Given the description of an element on the screen output the (x, y) to click on. 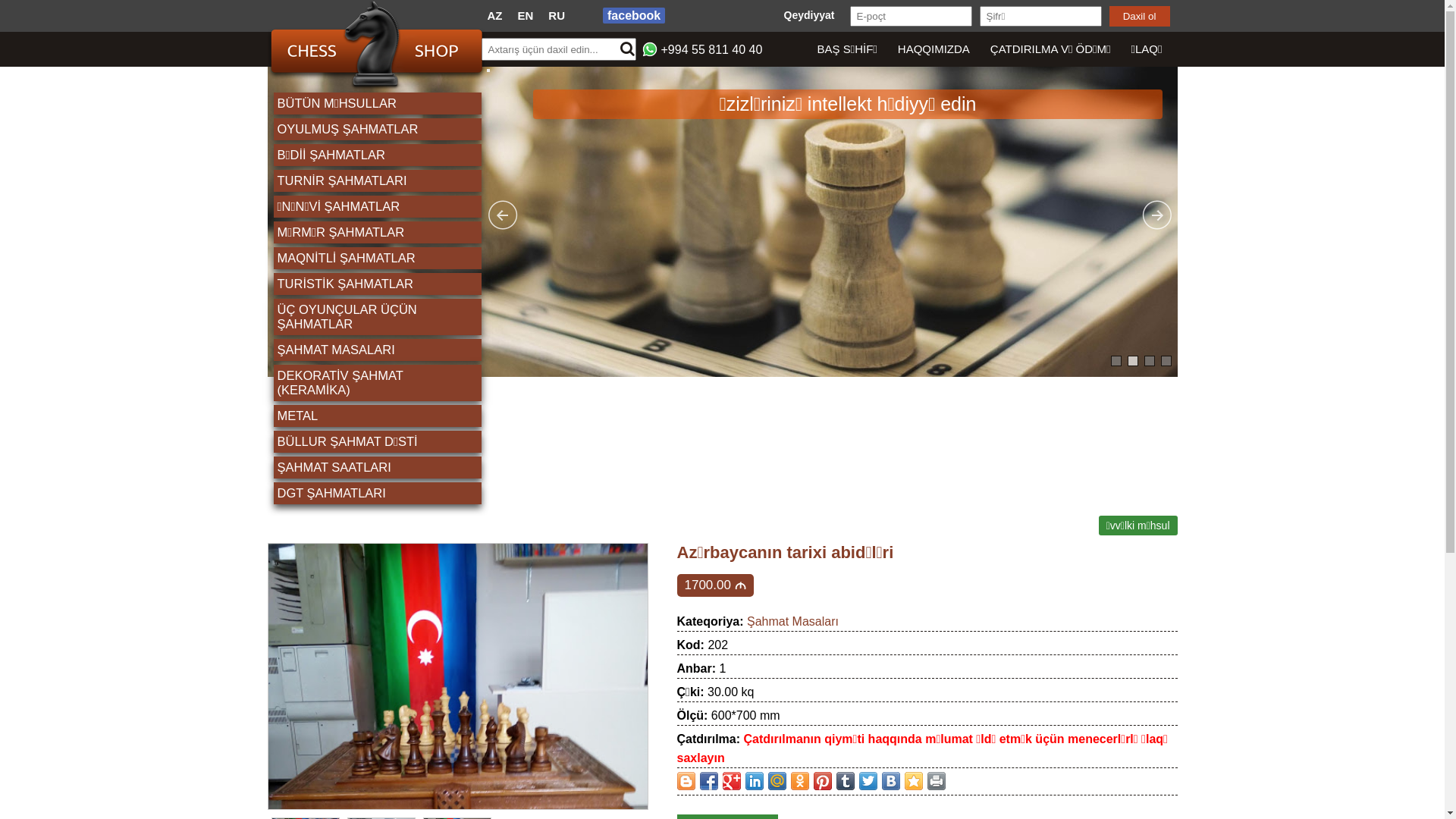
Save to Browser Favorites Element type: hover (912, 780)
METAL Element type: text (377, 415)
HAQQIMIZDA Element type: text (932, 48)
Print Element type: hover (935, 780)
Share on Linkedin Element type: hover (753, 780)
Share on Facebook Element type: hover (708, 780)
RU Element type: text (556, 15)
Share to Odnoklassniki.ru Element type: hover (799, 780)
Daxil ol Element type: text (1138, 16)
+994 55 811 40 40 Element type: text (711, 49)
Share on Tumblr Element type: hover (844, 780)
BlogThis! Element type: hover (685, 780)
Qeydiyyat Element type: text (809, 15)
facebook Element type: text (633, 15)
Share on Google+ Element type: hover (730, 780)
Pin It Element type: hover (821, 780)
EN Element type: text (525, 15)
AZ Element type: text (494, 15)
Share on Twitter Element type: hover (867, 780)
Share on VK Element type: hover (890, 780)
